Given the description of an element on the screen output the (x, y) to click on. 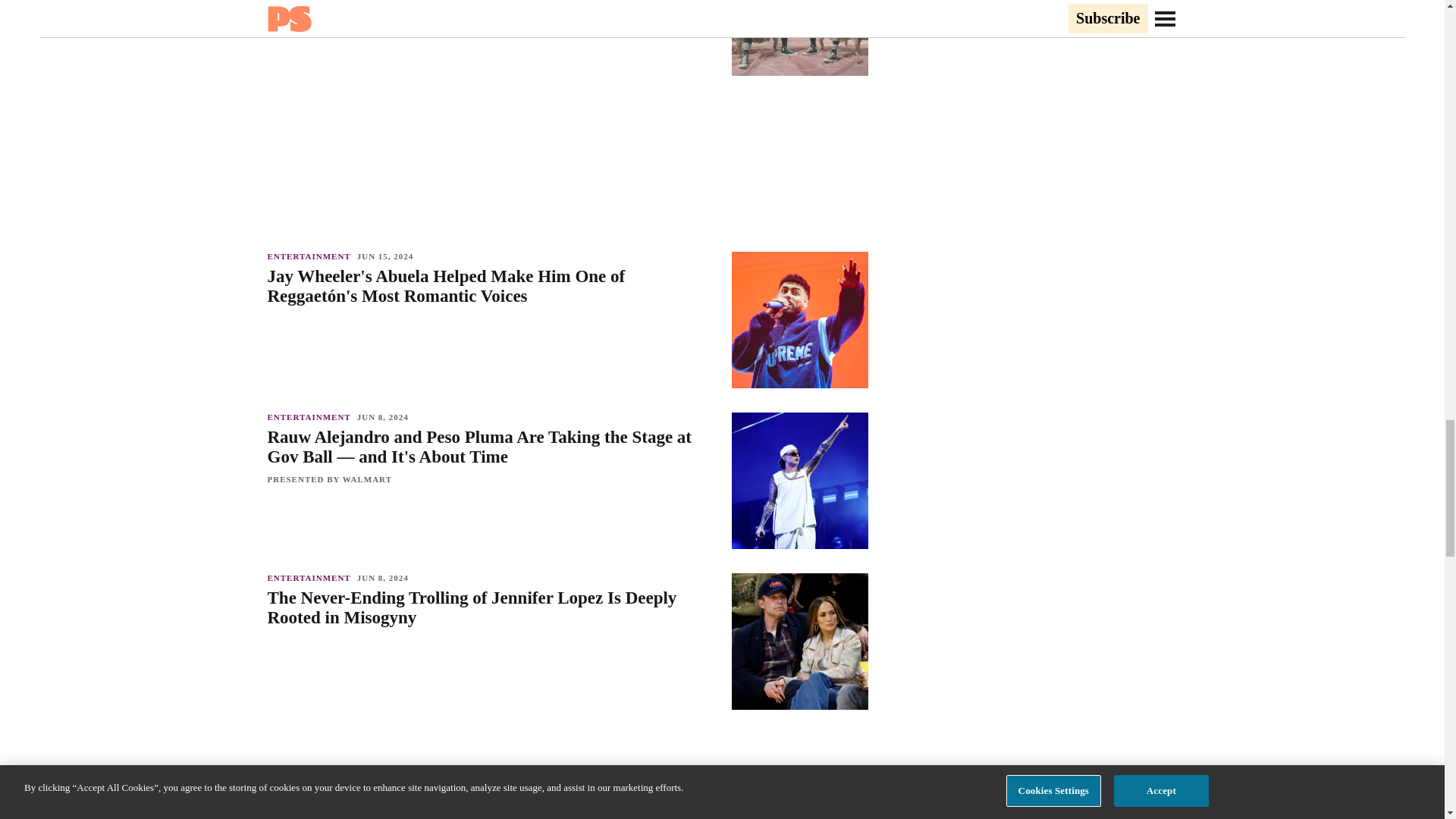
ENTERTAINMENT (311, 256)
A Popsugar podcast on iHeartRadio (567, 160)
